Given the description of an element on the screen output the (x, y) to click on. 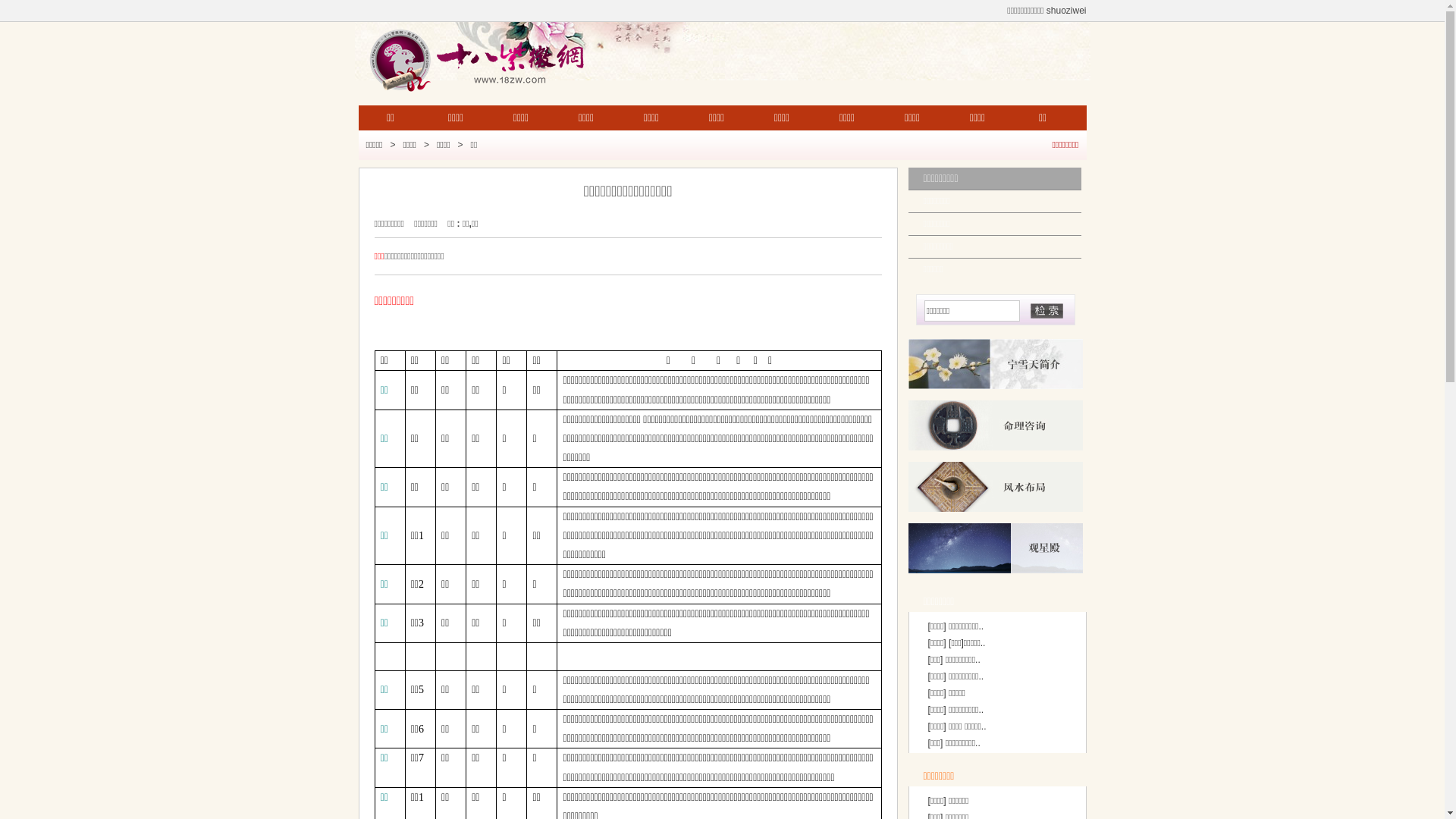
true Element type: text (1046, 310)
